Given the description of an element on the screen output the (x, y) to click on. 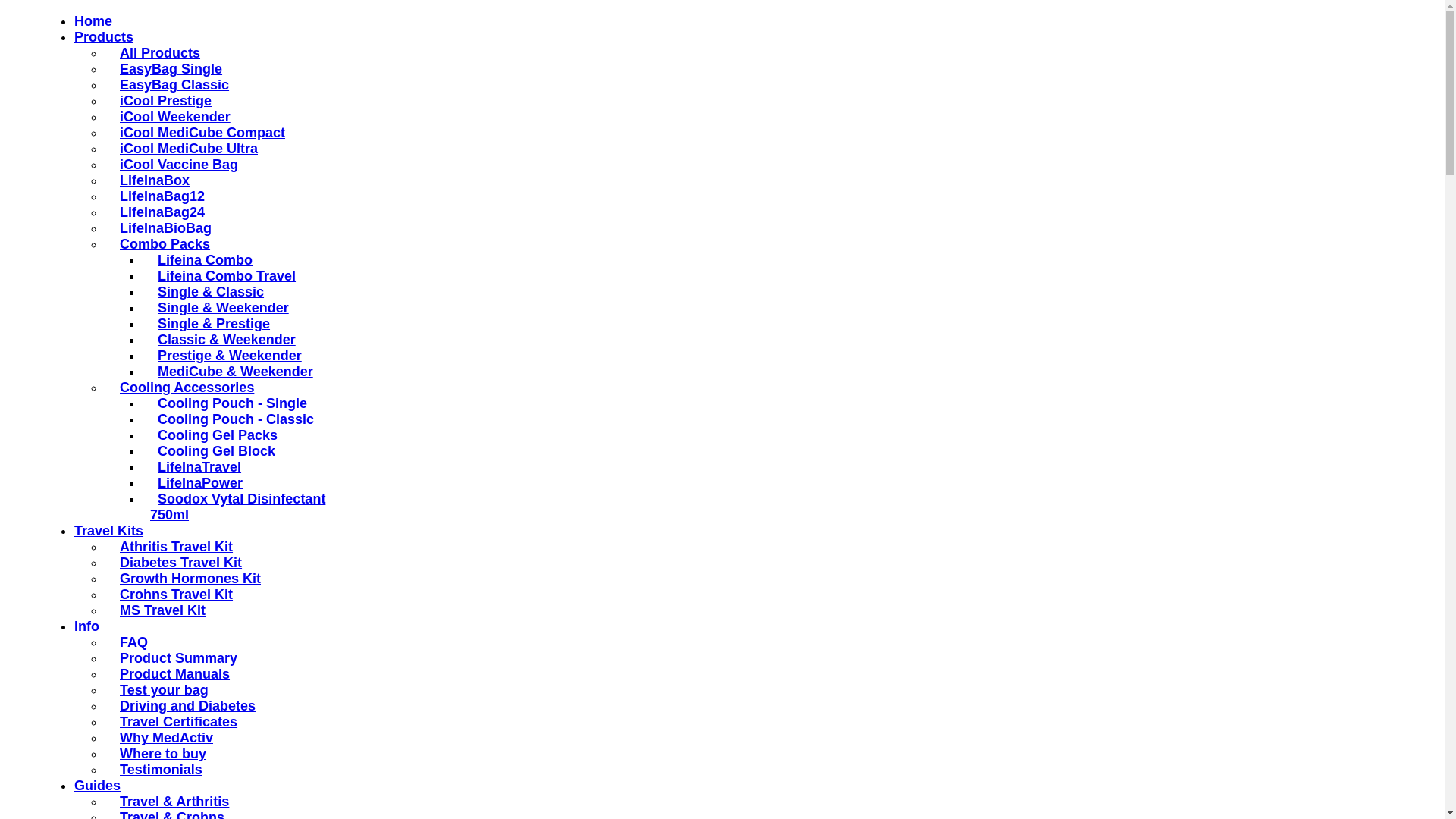
LifeInaBioBag Element type: text (161, 227)
Classic & Weekender Element type: text (222, 339)
Cooling Gel Block Element type: text (212, 450)
Crohns Travel Kit Element type: text (172, 594)
Why MedActiv Element type: text (162, 737)
iCool MediCube Compact Element type: text (198, 132)
MediCube & Weekender Element type: text (231, 371)
Single & Weekender Element type: text (219, 307)
iCool Prestige Element type: text (161, 100)
Single & Prestige Element type: text (209, 323)
Lifeina Combo Element type: text (201, 259)
Travel Certificates Element type: text (174, 721)
Prestige & Weekender Element type: text (225, 355)
Products Element type: text (103, 36)
Single & Classic Element type: text (206, 291)
EasyBag Classic Element type: text (170, 84)
Testimonials Element type: text (157, 769)
Athritis Travel Kit Element type: text (172, 546)
Product Manuals Element type: text (170, 673)
Cooling Gel Packs Element type: text (213, 434)
iCool MediCube Ultra Element type: text (184, 148)
iCool Vaccine Bag Element type: text (175, 164)
Lifeina Combo Travel Element type: text (222, 275)
Diabetes Travel Kit Element type: text (176, 562)
Soodox Vytal Disinfectant 750ml Element type: text (237, 506)
Test your bag Element type: text (160, 689)
All Products Element type: text (156, 52)
Cooling Accessories Element type: text (183, 387)
Home Element type: text (93, 20)
Combo Packs Element type: text (161, 243)
Product Summary Element type: text (174, 657)
Where to buy Element type: text (159, 753)
iCool Weekender Element type: text (171, 116)
Travel Kits Element type: text (108, 530)
EasyBag Single Element type: text (167, 68)
Info Element type: text (86, 625)
Travel & Arthritis Element type: text (170, 801)
LifeInaTravel Element type: text (195, 466)
LifeInaBox Element type: text (150, 180)
Driving and Diabetes Element type: text (183, 705)
MS Travel Kit Element type: text (158, 610)
FAQ Element type: text (129, 641)
Growth Hormones Kit Element type: text (186, 578)
Guides Element type: text (97, 785)
Cooling Pouch - Classic Element type: text (231, 418)
LifeInaBag24 Element type: text (158, 211)
LifeInaPower Element type: text (196, 482)
Cooling Pouch - Single Element type: text (228, 403)
LifeInaBag12 Element type: text (158, 195)
